Given the description of an element on the screen output the (x, y) to click on. 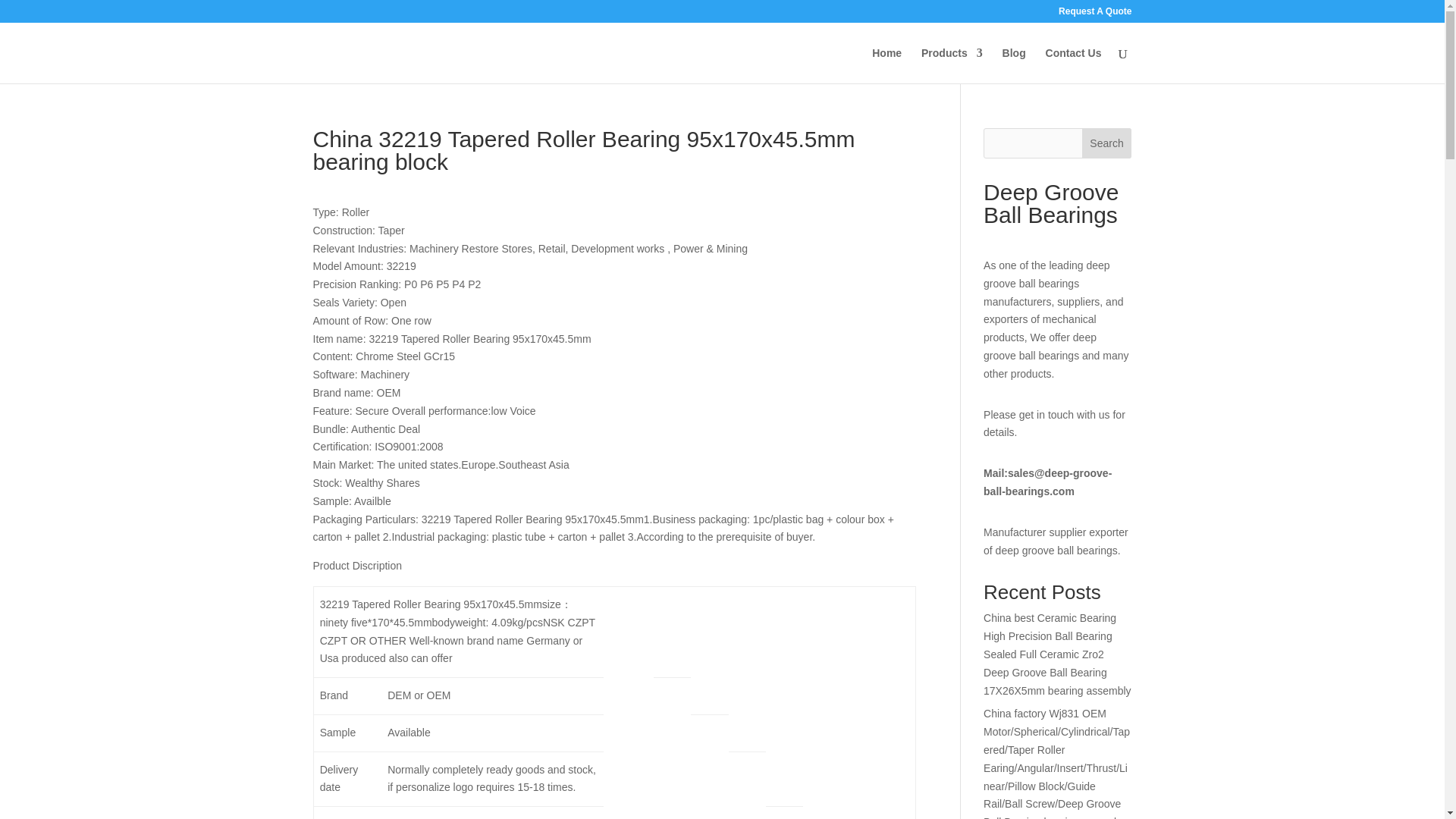
Home (886, 65)
Contact Us (1073, 65)
Blog (1014, 65)
Products (951, 65)
Request A Quote (1094, 14)
Search (1106, 142)
